Given the description of an element on the screen output the (x, y) to click on. 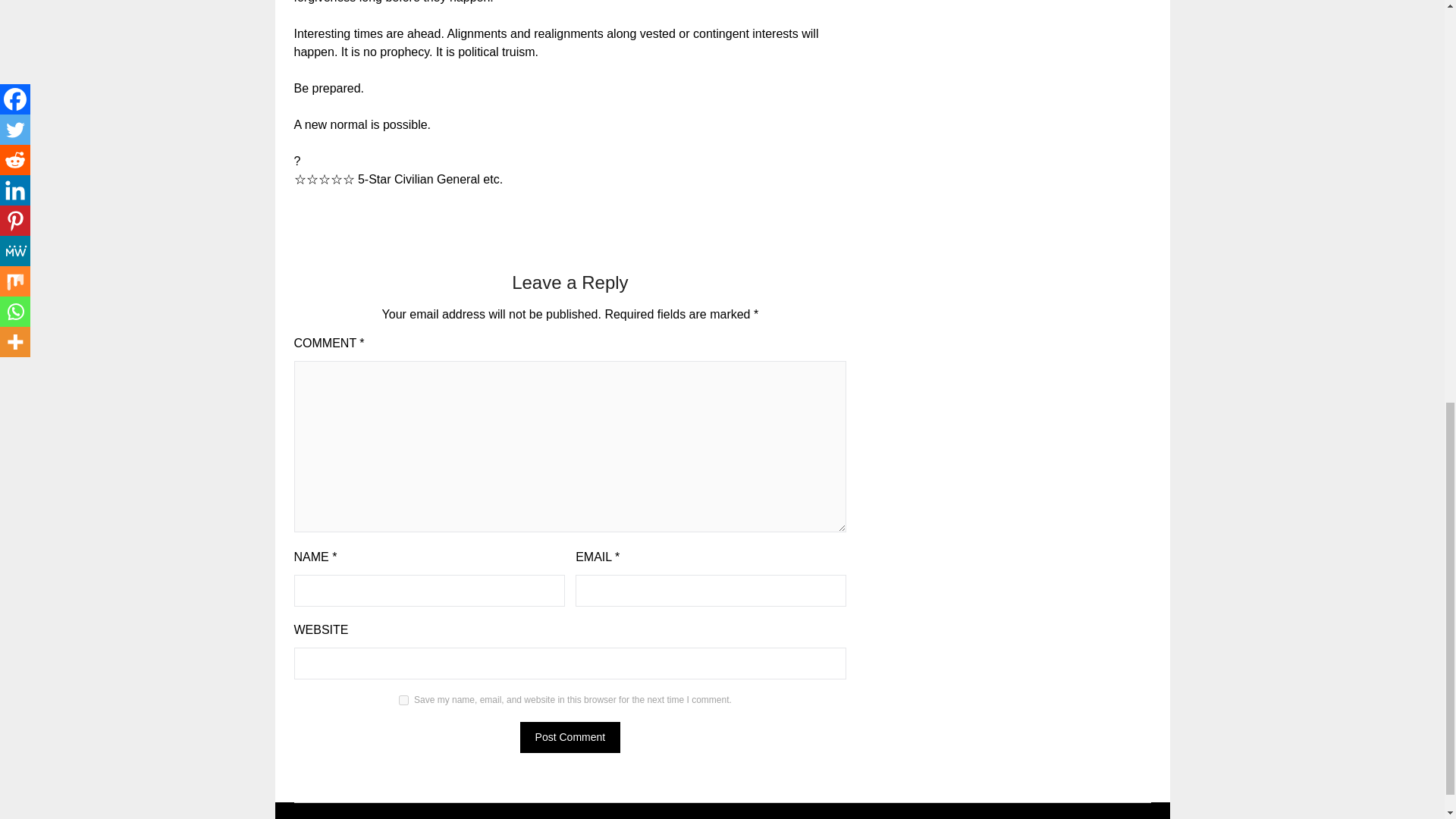
yes (403, 700)
Post Comment (570, 736)
Post Comment (570, 736)
